Given the description of an element on the screen output the (x, y) to click on. 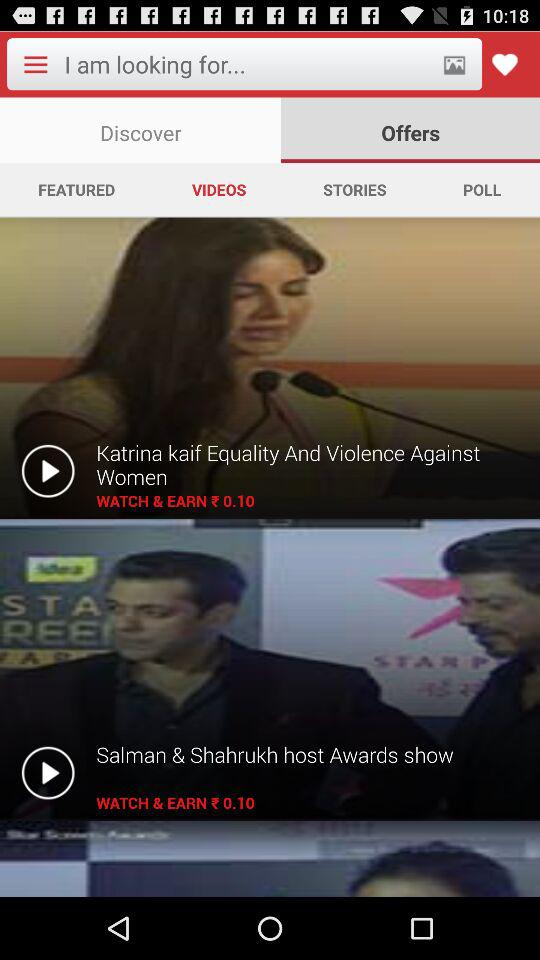
press the featured app (76, 189)
